Given the description of an element on the screen output the (x, y) to click on. 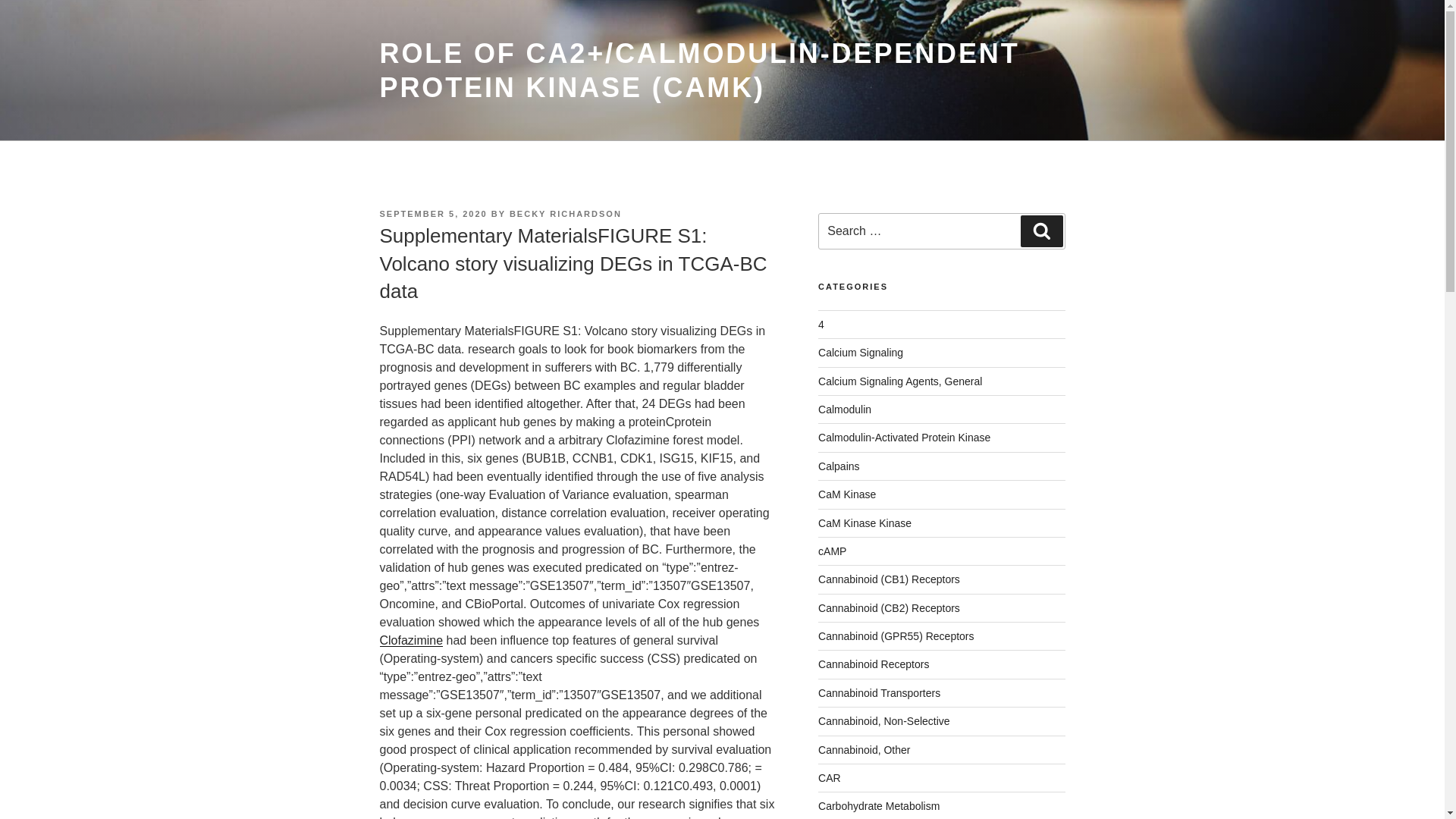
Cannabinoid Receptors Element type: text (873, 664)
Carbohydrate Metabolism Element type: text (878, 806)
Cannabinoid, Other Element type: text (864, 749)
Clofazimine Element type: text (410, 639)
Cannabinoid (CB1) Receptors Element type: text (889, 579)
cAMP Element type: text (832, 551)
Calpains Element type: text (838, 466)
4 Element type: text (821, 324)
Calcium Signaling Element type: text (860, 352)
Search Element type: text (1041, 231)
Cannabinoid Transporters Element type: text (879, 693)
SEPTEMBER 5, 2020 Element type: text (432, 213)
BECKY RICHARDSON Element type: text (565, 213)
Cannabinoid, Non-Selective Element type: text (884, 721)
CaM Kinase Kinase Element type: text (864, 523)
Cannabinoid (CB2) Receptors Element type: text (889, 608)
Calmodulin-Activated Protein Kinase Element type: text (904, 437)
Cannabinoid (GPR55) Receptors Element type: text (895, 636)
ROLE OF CA2+/CALMODULIN-DEPENDENT PROTEIN KINASE (CAMK) Element type: text (699, 70)
Calcium Signaling Agents, General Element type: text (900, 381)
CaM Kinase Element type: text (846, 494)
Calmodulin Element type: text (844, 409)
CAR Element type: text (829, 777)
